Given the description of an element on the screen output the (x, y) to click on. 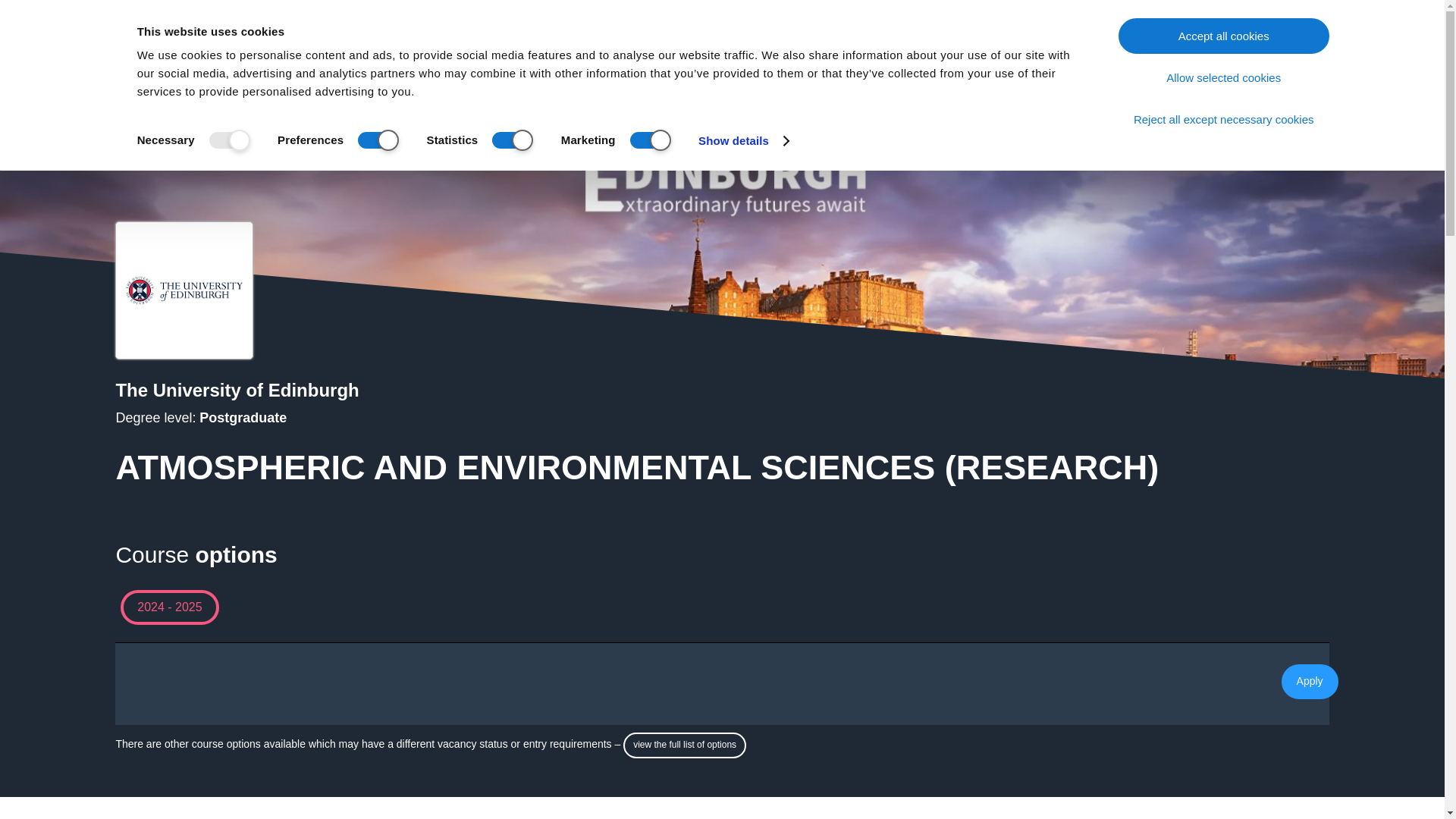
Show details (742, 140)
